Given the description of an element on the screen output the (x, y) to click on. 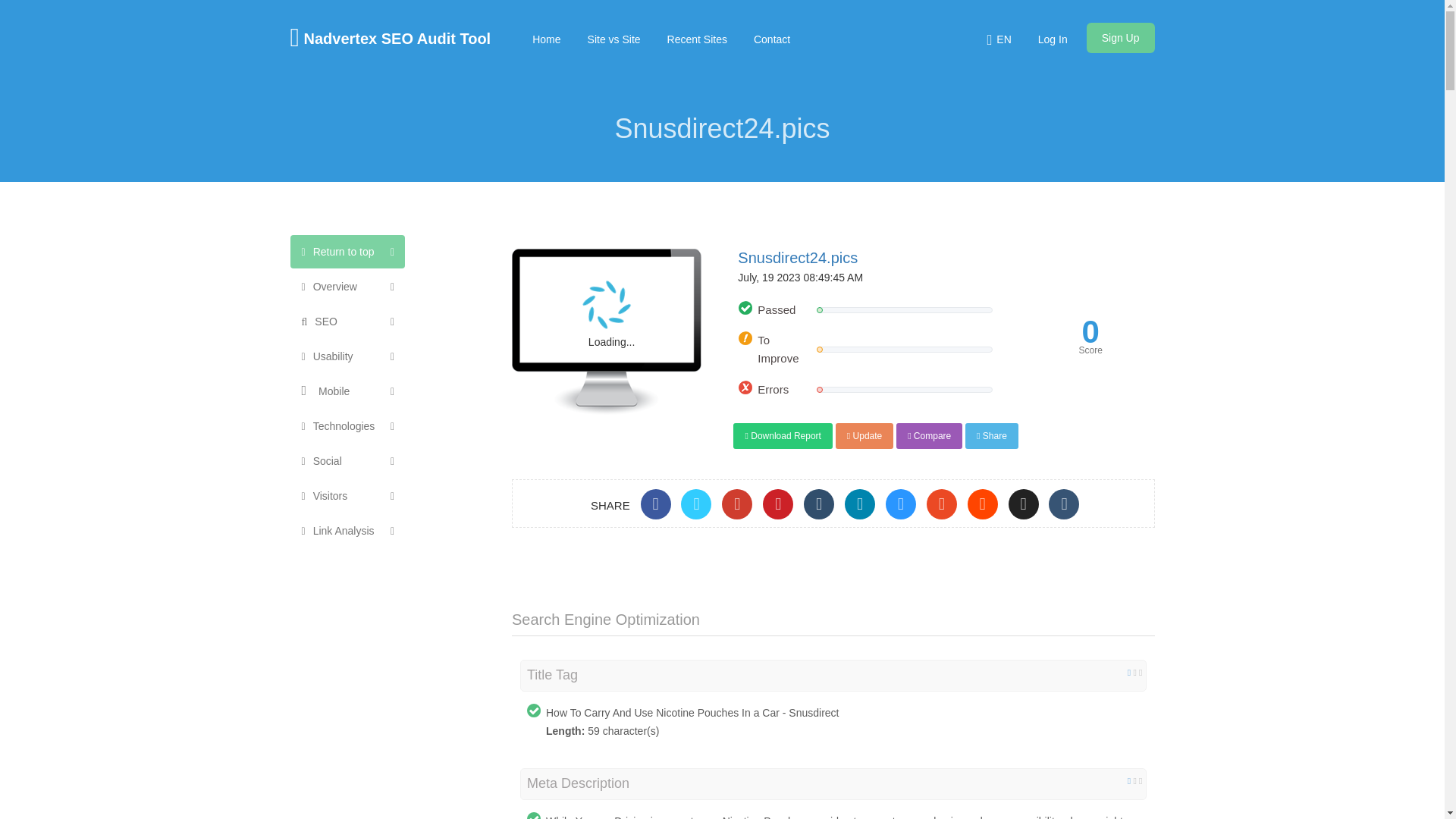
Share (991, 435)
Social (346, 460)
SEO (325, 321)
Log In (1052, 39)
Visitors (330, 495)
SEO (346, 321)
Snusdirect24.pics (797, 257)
Update (864, 435)
Technologies (346, 426)
Compare (929, 435)
Technologies (346, 426)
Home (545, 39)
Technologies (344, 426)
Contact (771, 39)
Sign Up (1120, 37)
